Given the description of an element on the screen output the (x, y) to click on. 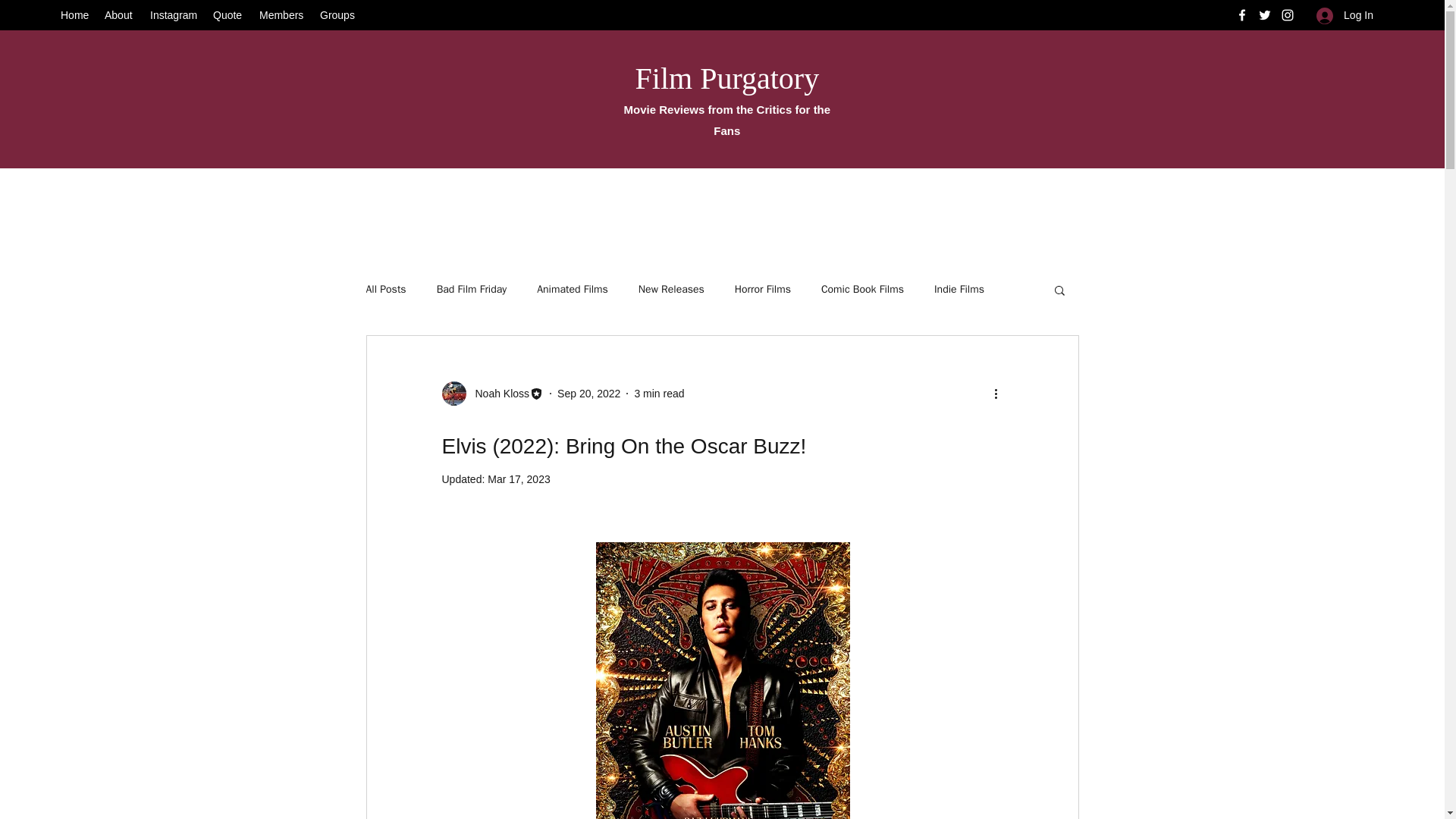
Members (282, 15)
Groups (337, 15)
Mar 17, 2023 (518, 479)
3 min read (658, 393)
Horror Films (762, 289)
All Posts (385, 289)
Sep 20, 2022 (588, 393)
Film Purgatory (726, 78)
Quote (228, 15)
Instagram (173, 15)
